Given the description of an element on the screen output the (x, y) to click on. 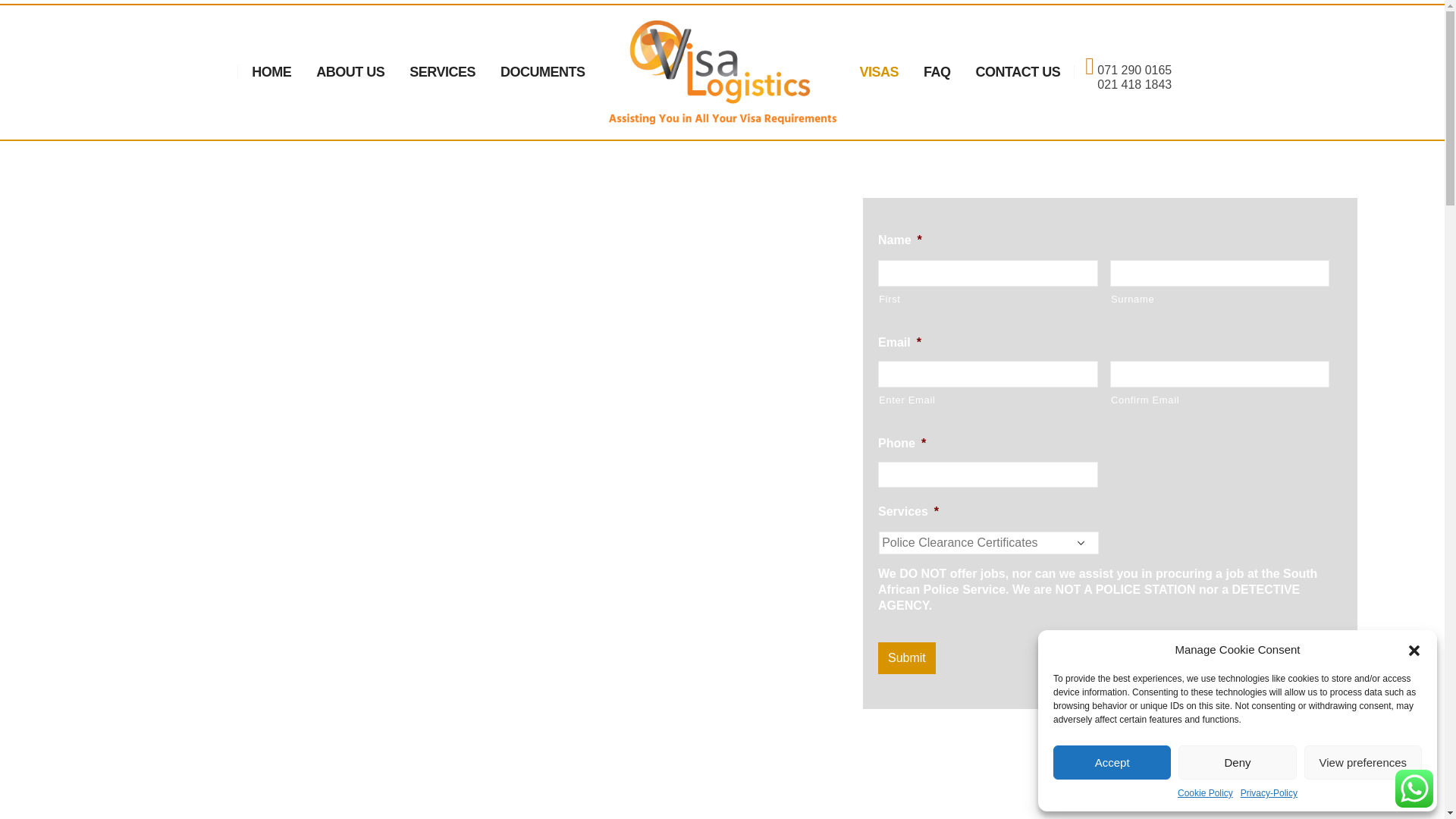
View preferences (1363, 762)
Cookie Policy (1205, 793)
DOCUMENTS (541, 71)
ABOUT US (350, 71)
Submit (906, 658)
Privacy-Policy (1268, 793)
SERVICES (442, 71)
Accept (1111, 762)
Visa Logistics -  (721, 72)
Deny (1236, 762)
Opens a widget where you can chat to one of our agents (57, 792)
